Given the description of an element on the screen output the (x, y) to click on. 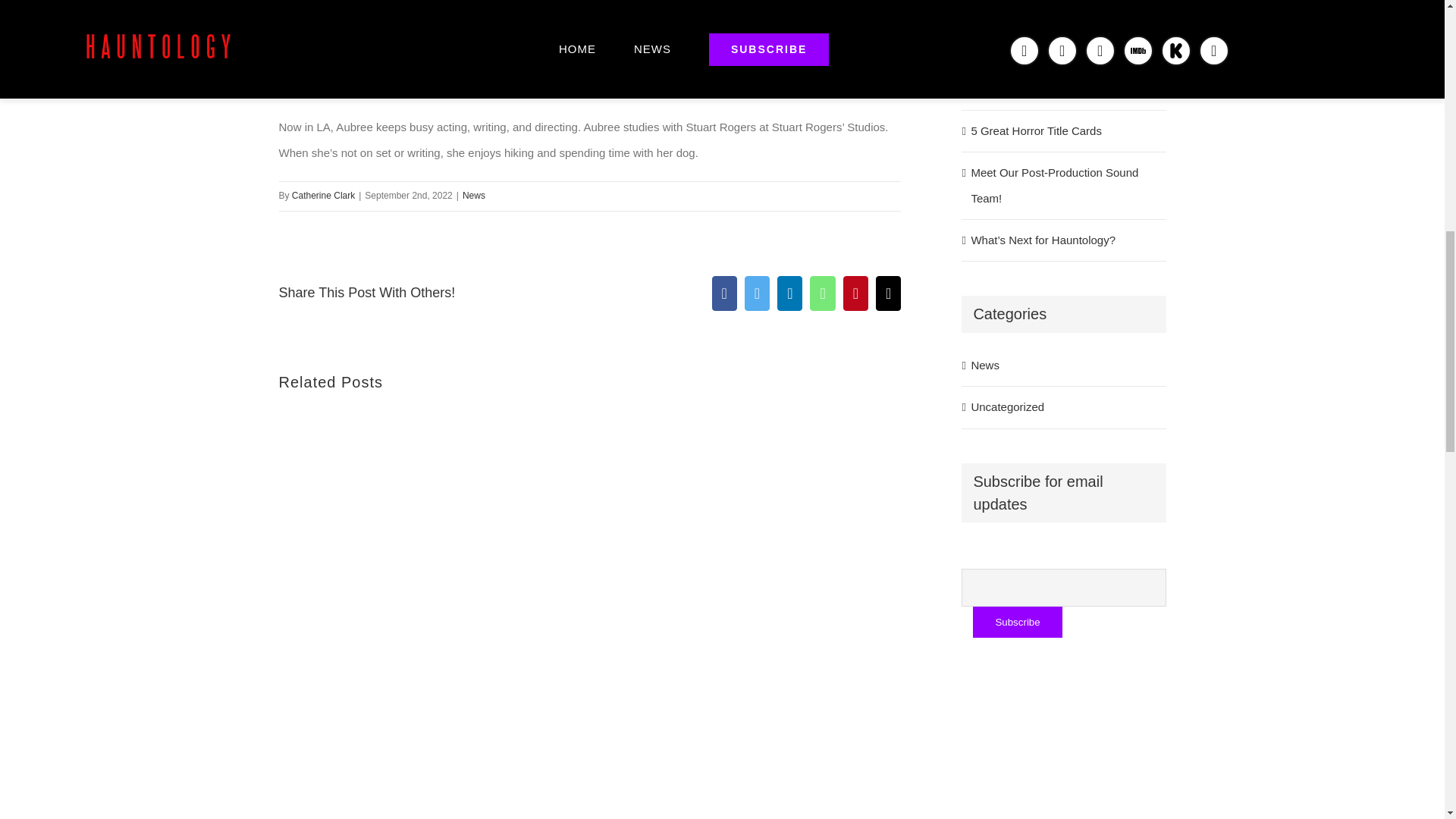
Aubree Bowen (358, 21)
News (473, 195)
Posts by Catherine Clark (323, 195)
Subscribe (1016, 622)
Catherine Clark (323, 195)
